Given the description of an element on the screen output the (x, y) to click on. 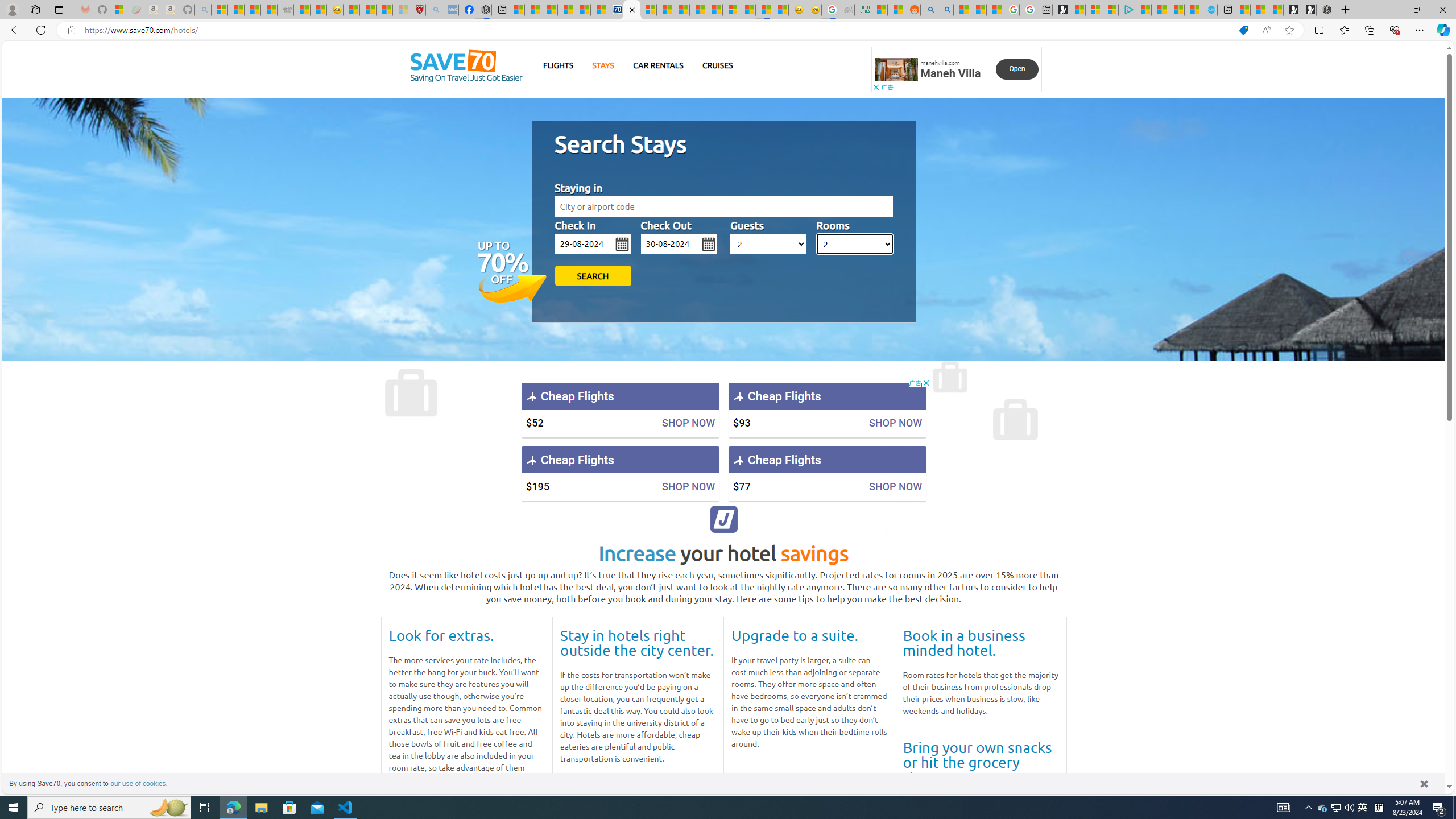
STAYS (603, 65)
Recipes - MSN (350, 9)
Homepage (465, 66)
dismiss cookie message (1424, 783)
CRUISES (717, 65)
FLIGHTS (558, 65)
AutomationID: cbb (925, 382)
